Given the description of an element on the screen output the (x, y) to click on. 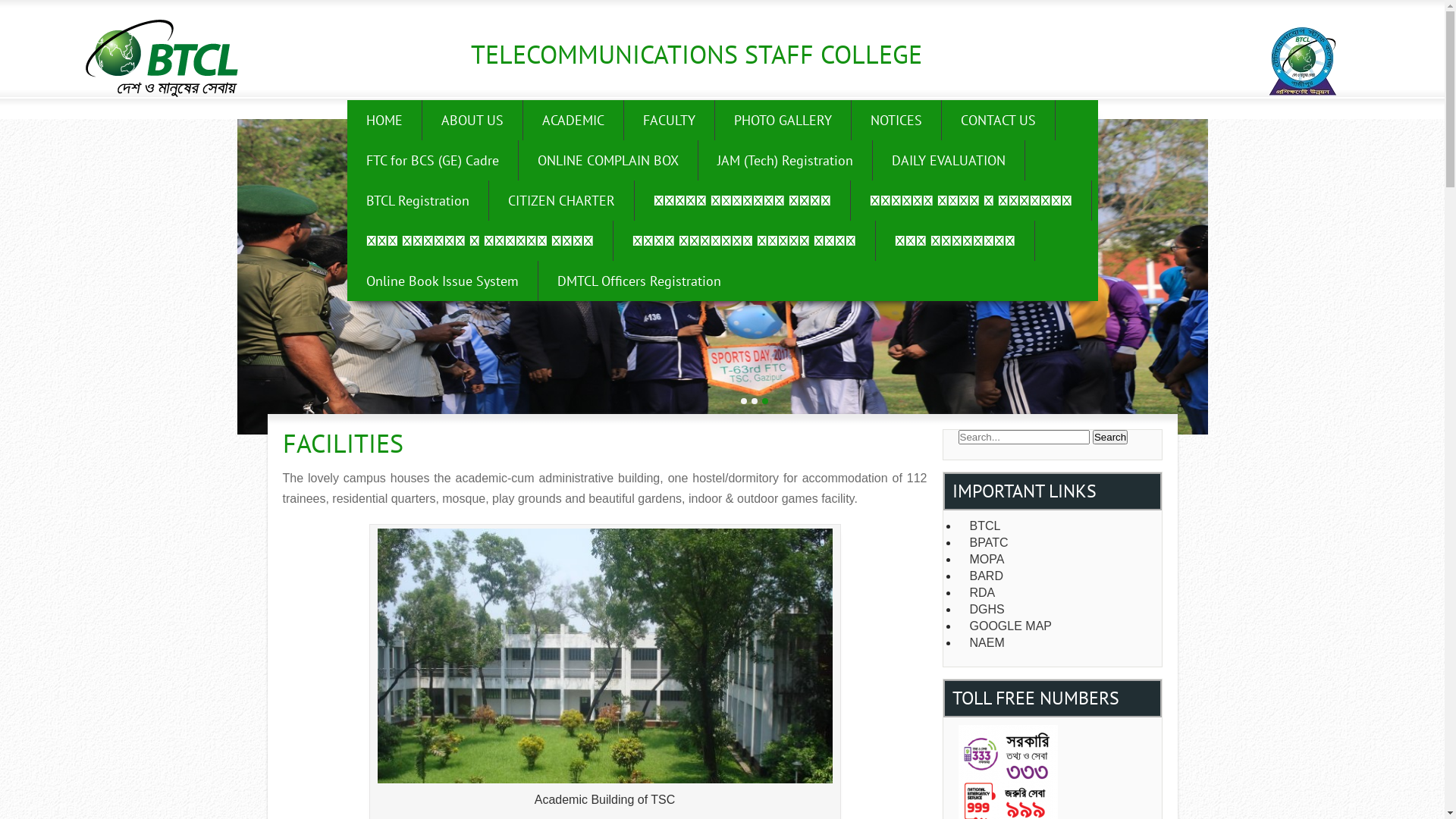
DMTCL Officers Registration Element type: text (639, 280)
CONTACT US Element type: text (998, 120)
BPATC Element type: text (1057, 542)
RDA Element type: text (1057, 592)
DAILY EVALUATION Element type: text (948, 160)
ACADEMIC Element type: text (573, 120)
ABOUT US Element type: text (471, 120)
ONLINE COMPLAIN BOX Element type: text (608, 160)
MOPA Element type: text (1057, 559)
Online Book Issue System Element type: text (442, 280)
NAEM Element type: text (1057, 642)
1 Element type: text (743, 401)
NOTICES Element type: text (895, 120)
JAM (Tech) Registration Element type: text (784, 160)
PHOTO GALLERY Element type: text (782, 120)
BTCL Registration Element type: text (418, 200)
FTC for BCS (GE) Cadre Element type: text (432, 160)
3 Element type: text (765, 401)
TELECOMMUNICATIONS STAFF COLLEGE Element type: text (696, 53)
BARD Element type: text (1057, 575)
DGHS Element type: text (1057, 609)
2 Element type: text (754, 401)
Search Element type: text (1109, 436)
CITIZEN CHARTER Element type: text (560, 200)
BTCL Element type: text (1057, 525)
FACULTY Element type: text (668, 120)
GOOGLE MAP Element type: text (1057, 626)
HOME Element type: text (384, 120)
